Given the description of an element on the screen output the (x, y) to click on. 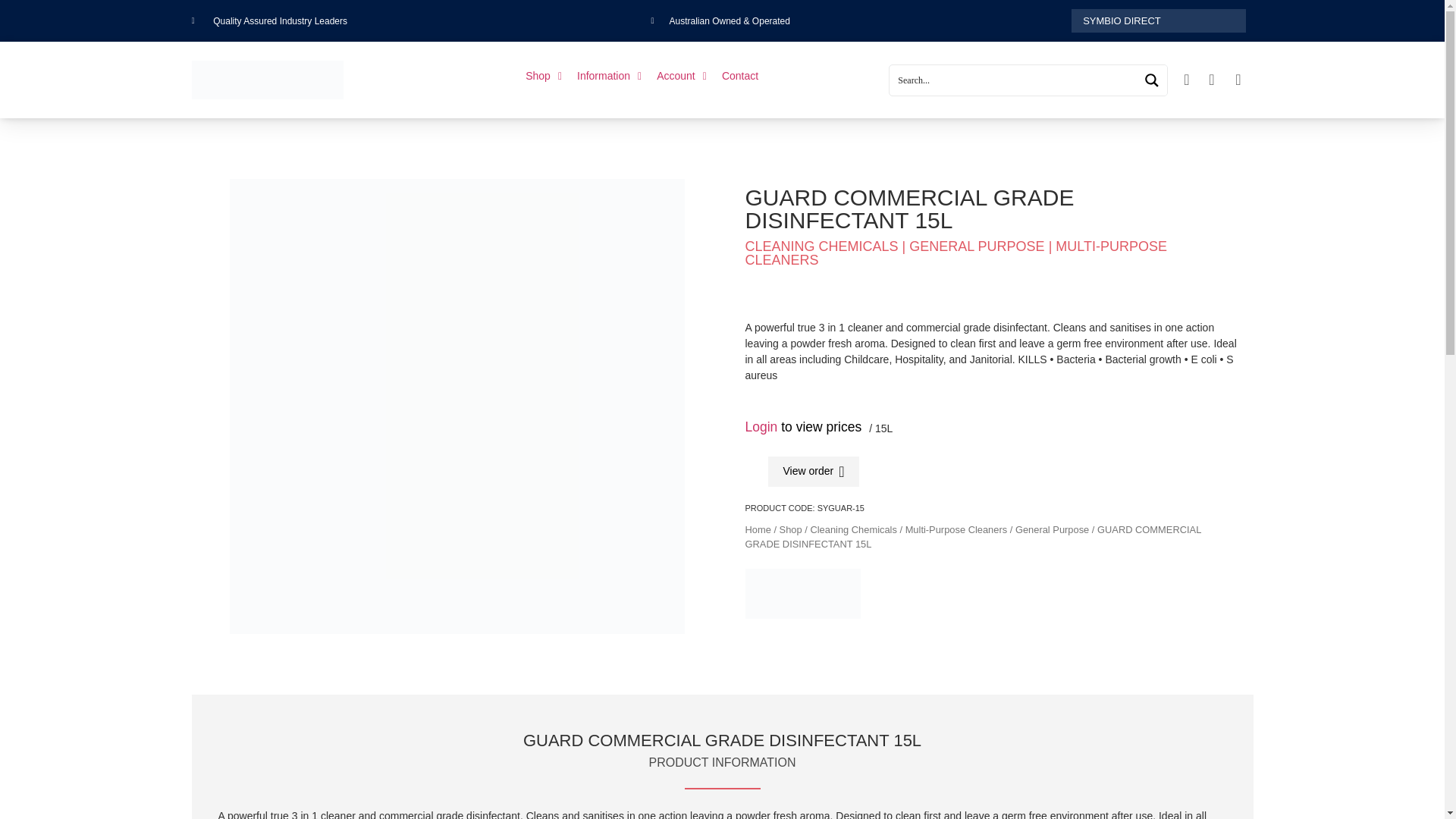
Shop (543, 75)
Your Symbio Direct account (681, 75)
SYMBIO DIRECT (1158, 20)
